Given the description of an element on the screen output the (x, y) to click on. 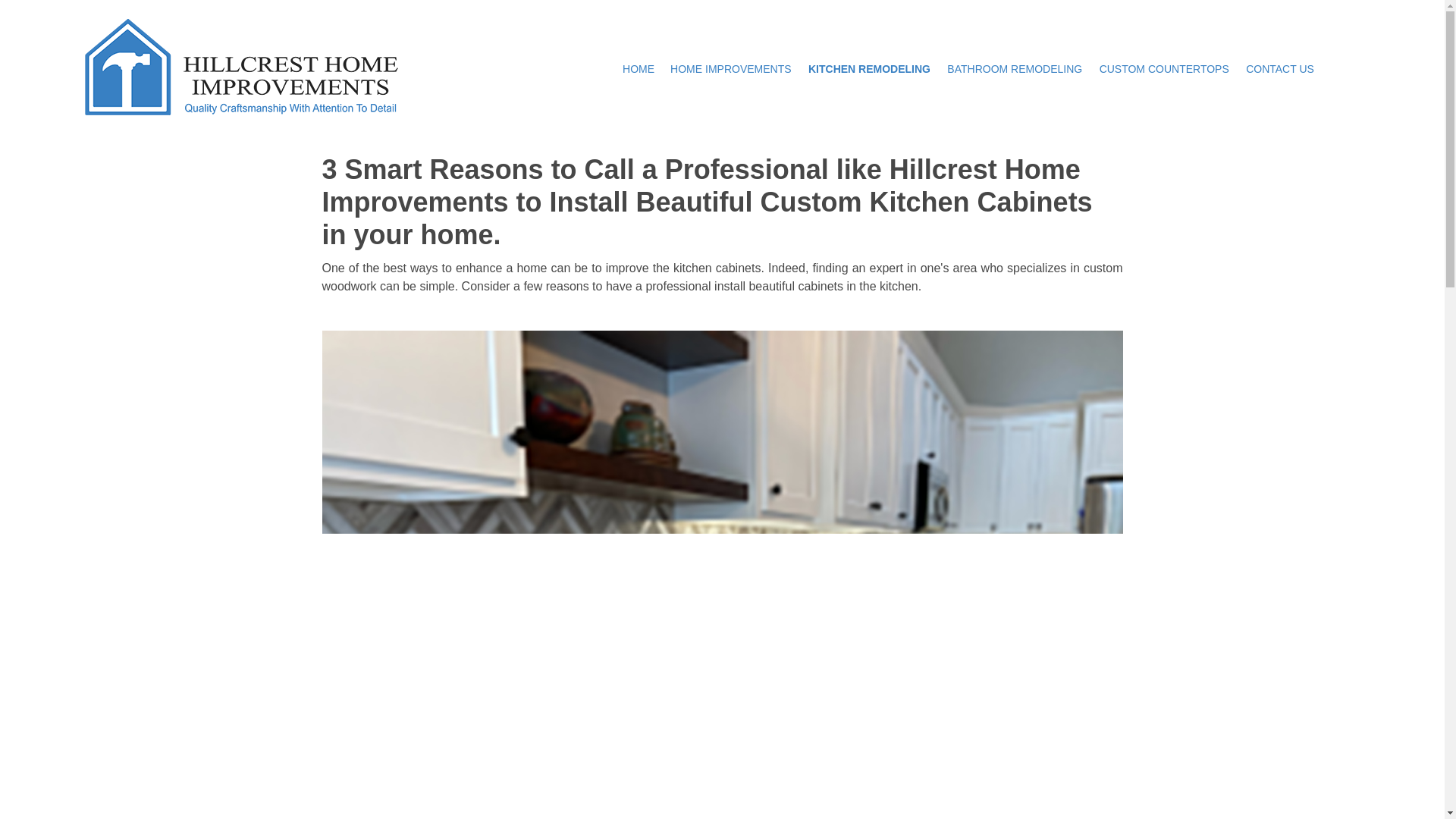
HOME IMPROVEMENTS (731, 69)
KITCHEN REMODELING (869, 69)
HOME (638, 69)
BATHROOM REMODELING (1014, 69)
CONTACT US (1280, 69)
CUSTOM COUNTERTOPS (1164, 69)
